Given the description of an element on the screen output the (x, y) to click on. 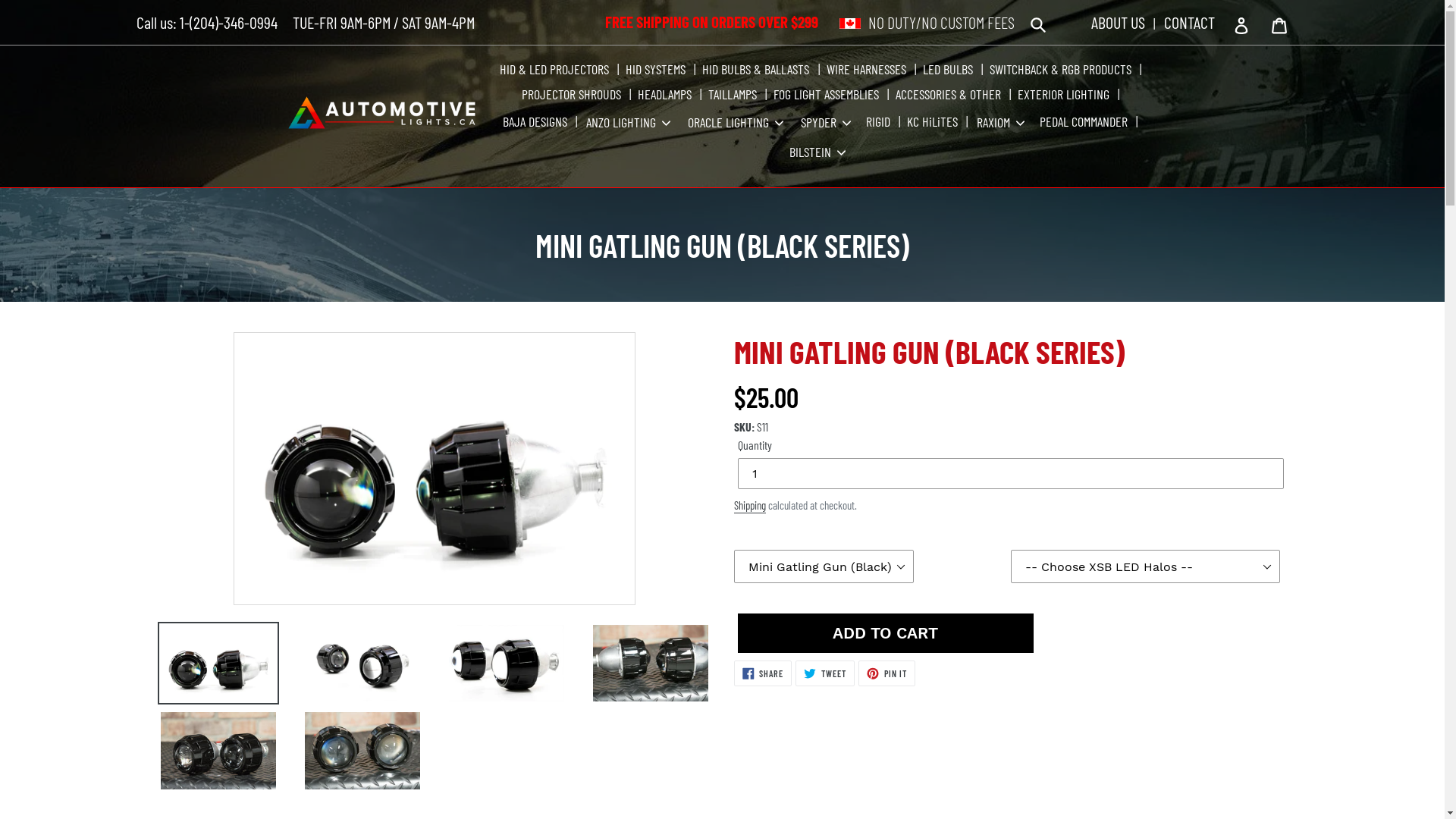
ABOUT US Element type: text (1118, 21)
TWEET
TWEET ON TWITTER Element type: text (824, 673)
CONTACT Element type: text (1189, 21)
HID BULBS & BALLASTS Element type: text (757, 68)
Cart Element type: text (1280, 23)
WIRE HARNESSES Element type: text (867, 68)
FOG LIGHT ASSEMBLIES Element type: text (827, 93)
PIN IT
PIN ON PINTEREST Element type: text (886, 673)
ADD TO CART Element type: text (884, 632)
HEADLAMPS Element type: text (666, 93)
KC HiLiTES Element type: text (933, 121)
HID & LED PROJECTORS Element type: text (556, 68)
Call us: 1-(204)-346-0994     TUE-FRI 9AM-6PM / SAT 9AM-4PM Element type: text (305, 21)
SHARE
SHARE ON FACEBOOK Element type: text (763, 673)
HID SYSTEMS Element type: text (657, 68)
EXTERIOR LIGHTING Element type: text (1064, 93)
BAJA DESIGNS Element type: text (536, 121)
Shipping Element type: text (749, 505)
Search Element type: text (1039, 23)
PEDAL COMMANDER Element type: text (1085, 121)
LED BULBS Element type: text (949, 68)
ACCESSORIES & OTHER Element type: text (950, 93)
PROJECTOR SHROUDS Element type: text (572, 93)
Log in Element type: text (1243, 23)
SWITCHBACK & RGB PRODUCTS Element type: text (1062, 68)
RIGID Element type: text (879, 121)
TAILLAMPS Element type: text (733, 93)
